Given the description of an element on the screen output the (x, y) to click on. 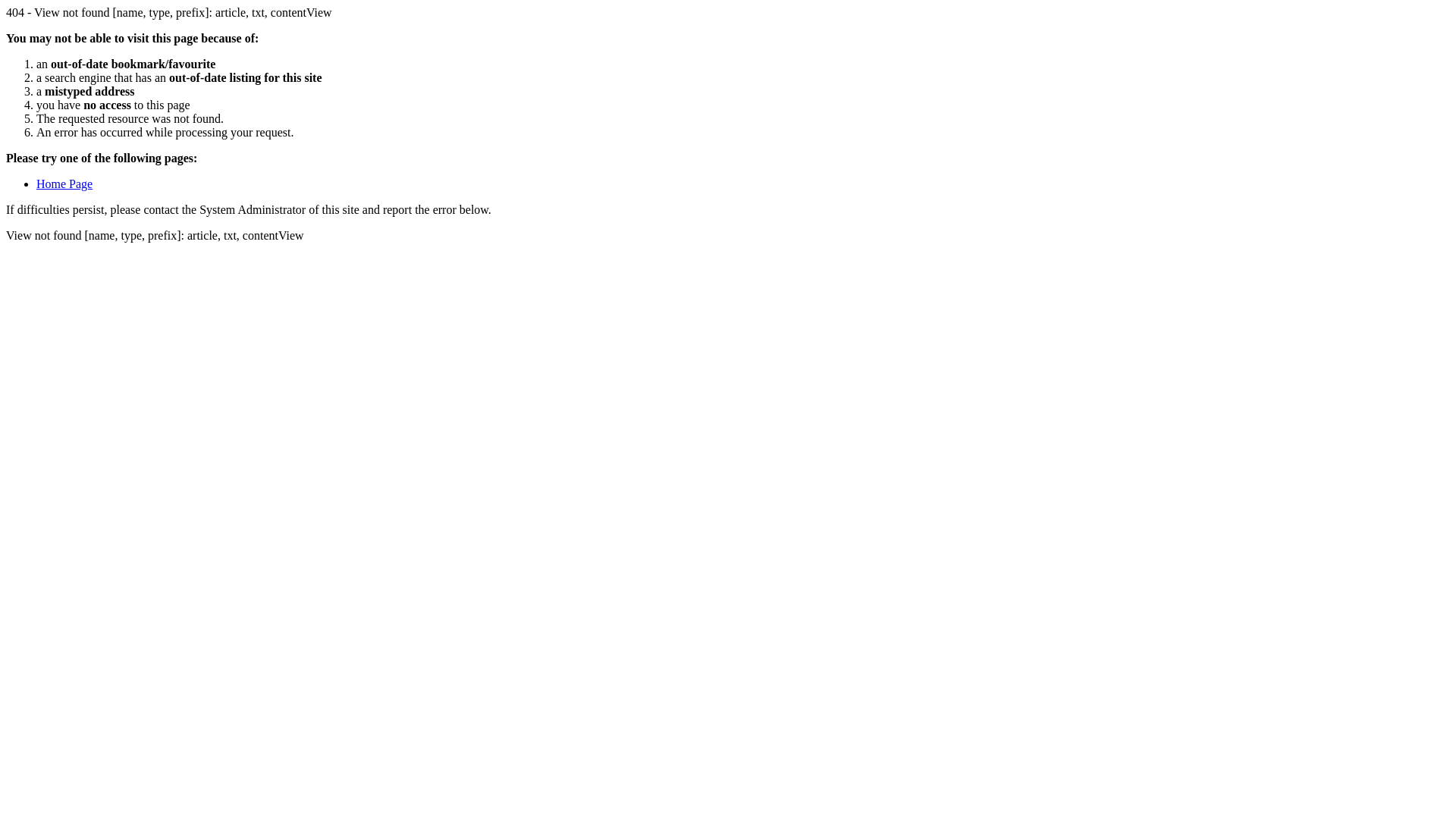
Home Page Element type: text (64, 183)
